Given the description of an element on the screen output the (x, y) to click on. 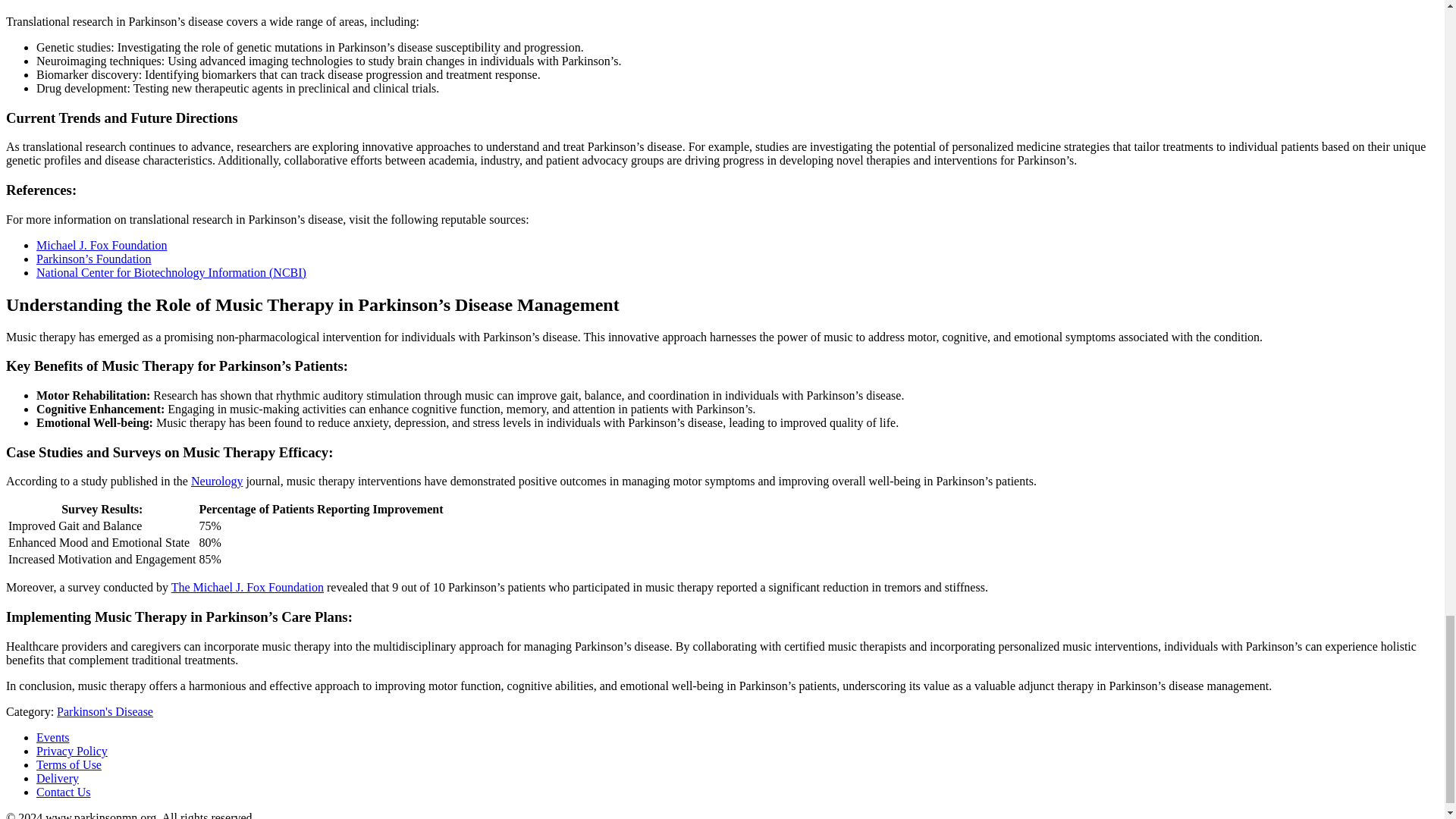
Contact Us (63, 791)
The Michael J. Fox Foundation (247, 586)
Michael J. Fox Foundation (101, 245)
Neurology (216, 481)
Parkinson's Disease (104, 711)
Terms of Use (68, 764)
Privacy Policy (71, 750)
Events (52, 737)
Delivery (57, 778)
